Given the description of an element on the screen output the (x, y) to click on. 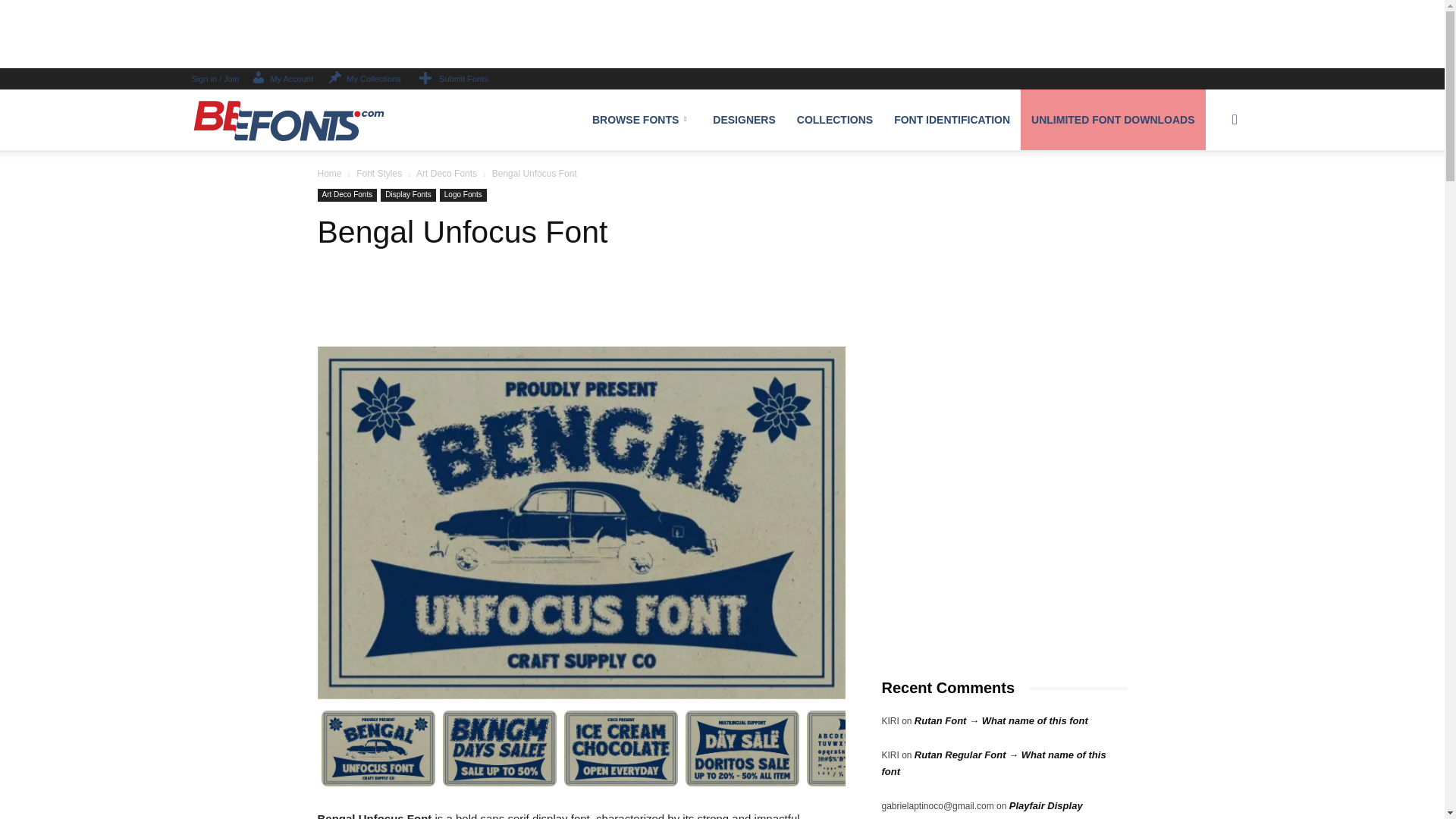
Font Designers (743, 119)
Font identification (951, 119)
All Font Categories (640, 119)
View all posts in Font Styles (378, 173)
Font Collections (834, 119)
View all posts in Art Deco Fonts (446, 173)
Advertisement (580, 307)
